Given the description of an element on the screen output the (x, y) to click on. 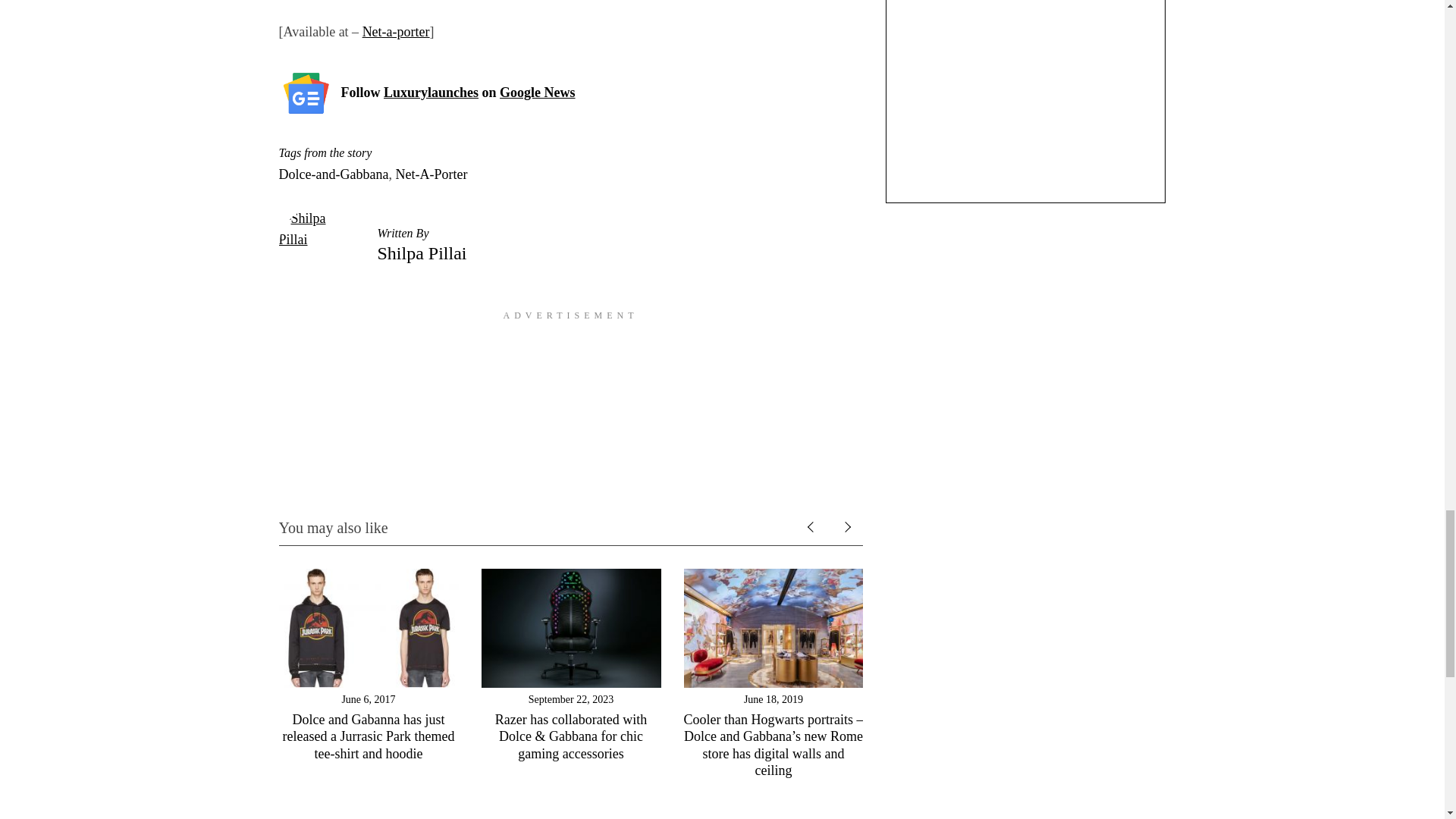
Follow Luxurylaunches on Google News (457, 92)
Net-A-Porter (430, 174)
Shilpa Pillai (422, 252)
Net-a-porter (395, 31)
Dolce-and-Gabbana (333, 174)
